Given the description of an element on the screen output the (x, y) to click on. 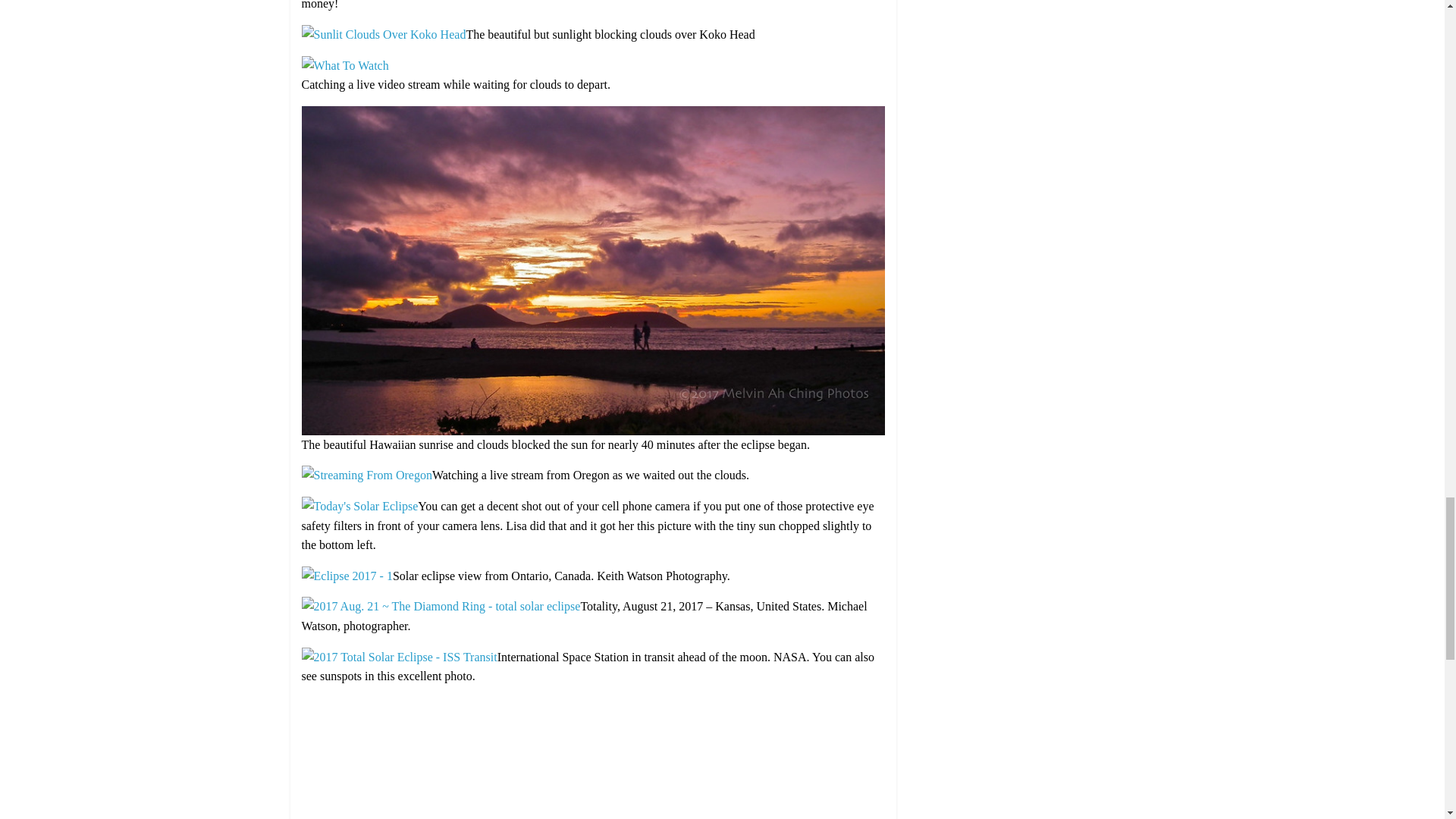
Today's Solar Eclipse (360, 505)
Streaming From Oregon (366, 474)
What To Watch (344, 65)
Eclipse 2017 - 1 (347, 575)
Sunlit Clouds Over Koko Head (383, 33)
2017 Total Solar Eclipse - ISS Transit (399, 656)
Monday Morning Sunrise (593, 115)
